Given the description of an element on the screen output the (x, y) to click on. 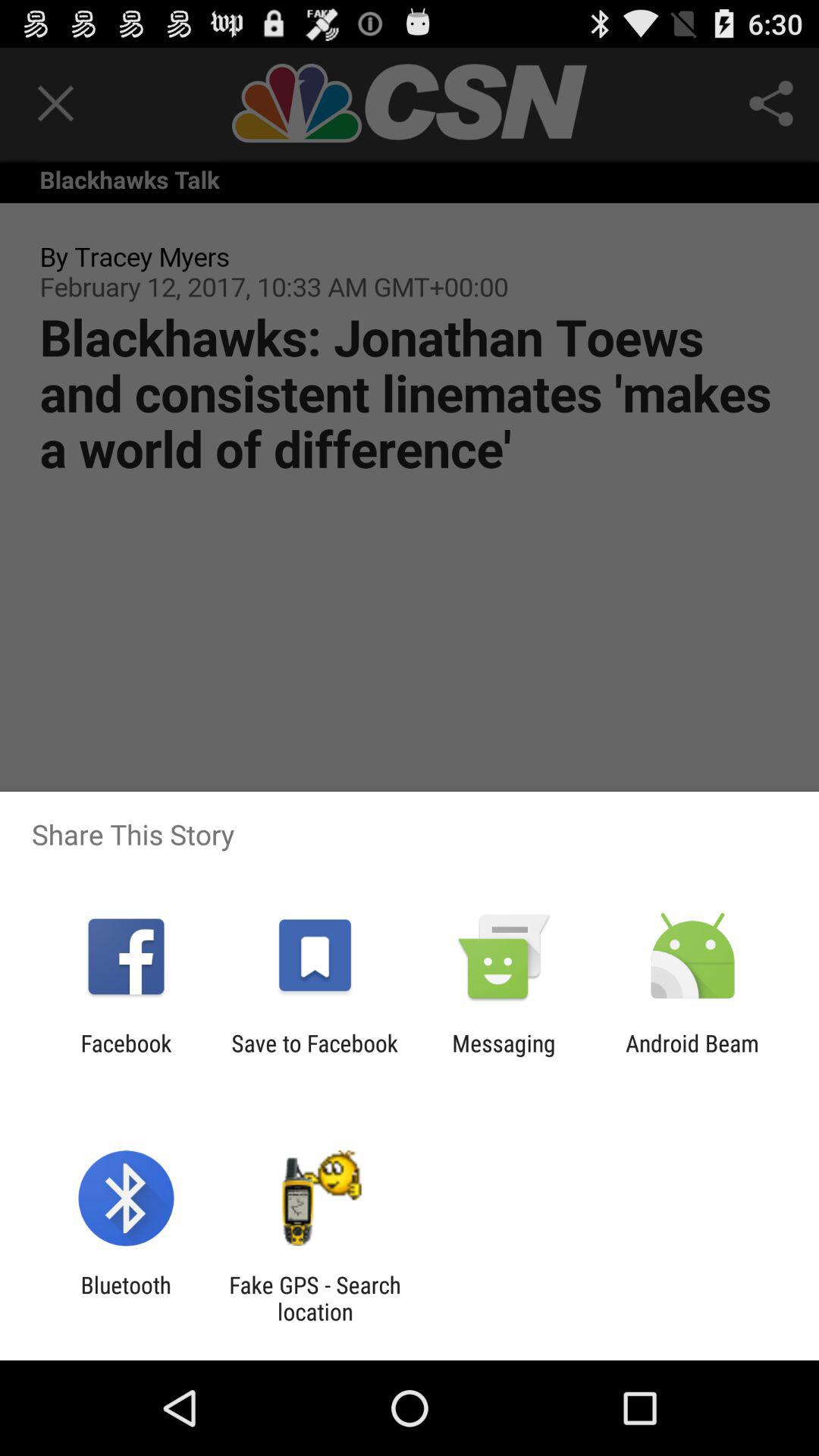
click app to the left of the android beam icon (503, 1056)
